Given the description of an element on the screen output the (x, y) to click on. 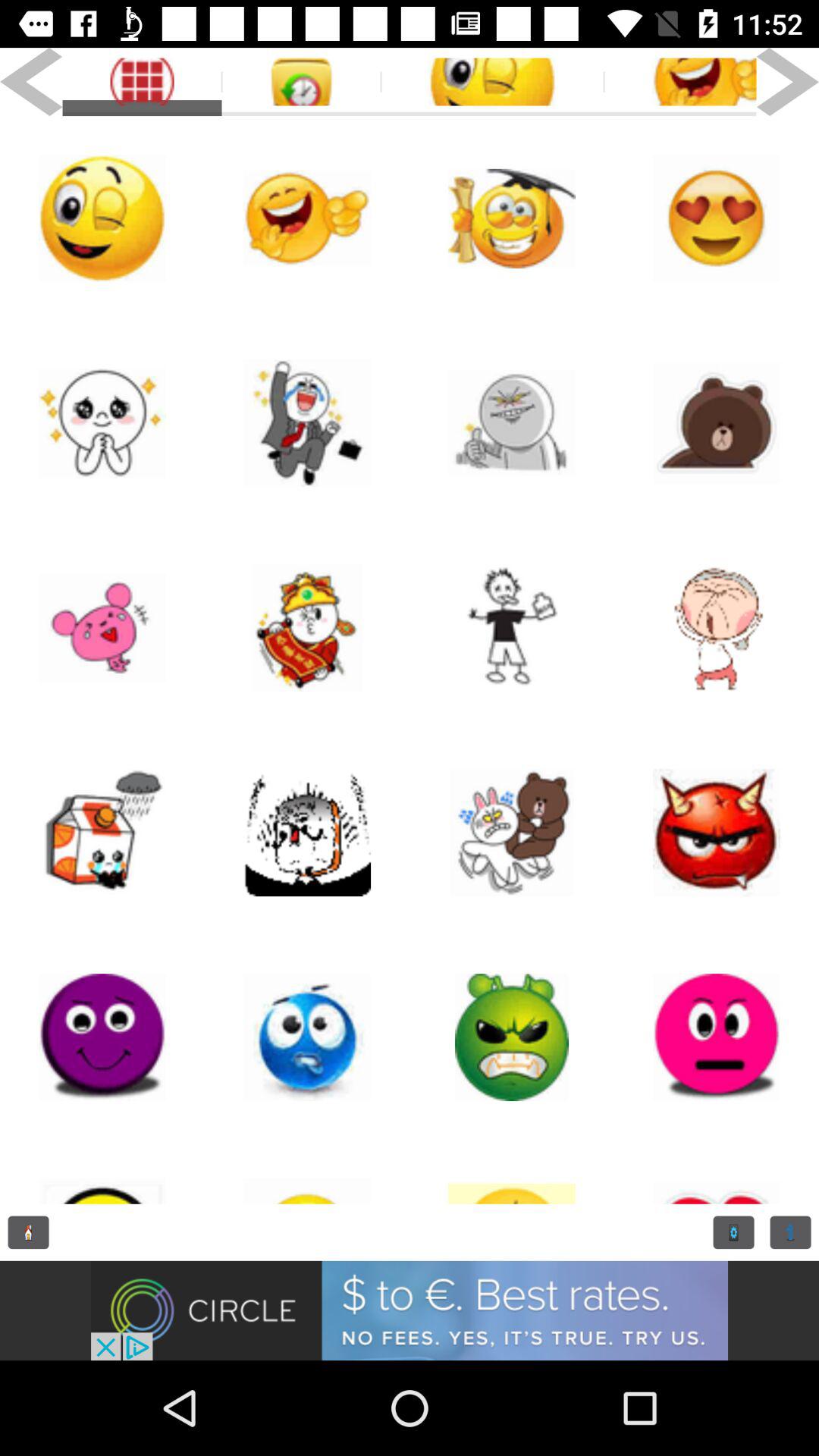
person emoji (716, 627)
